Given the description of an element on the screen output the (x, y) to click on. 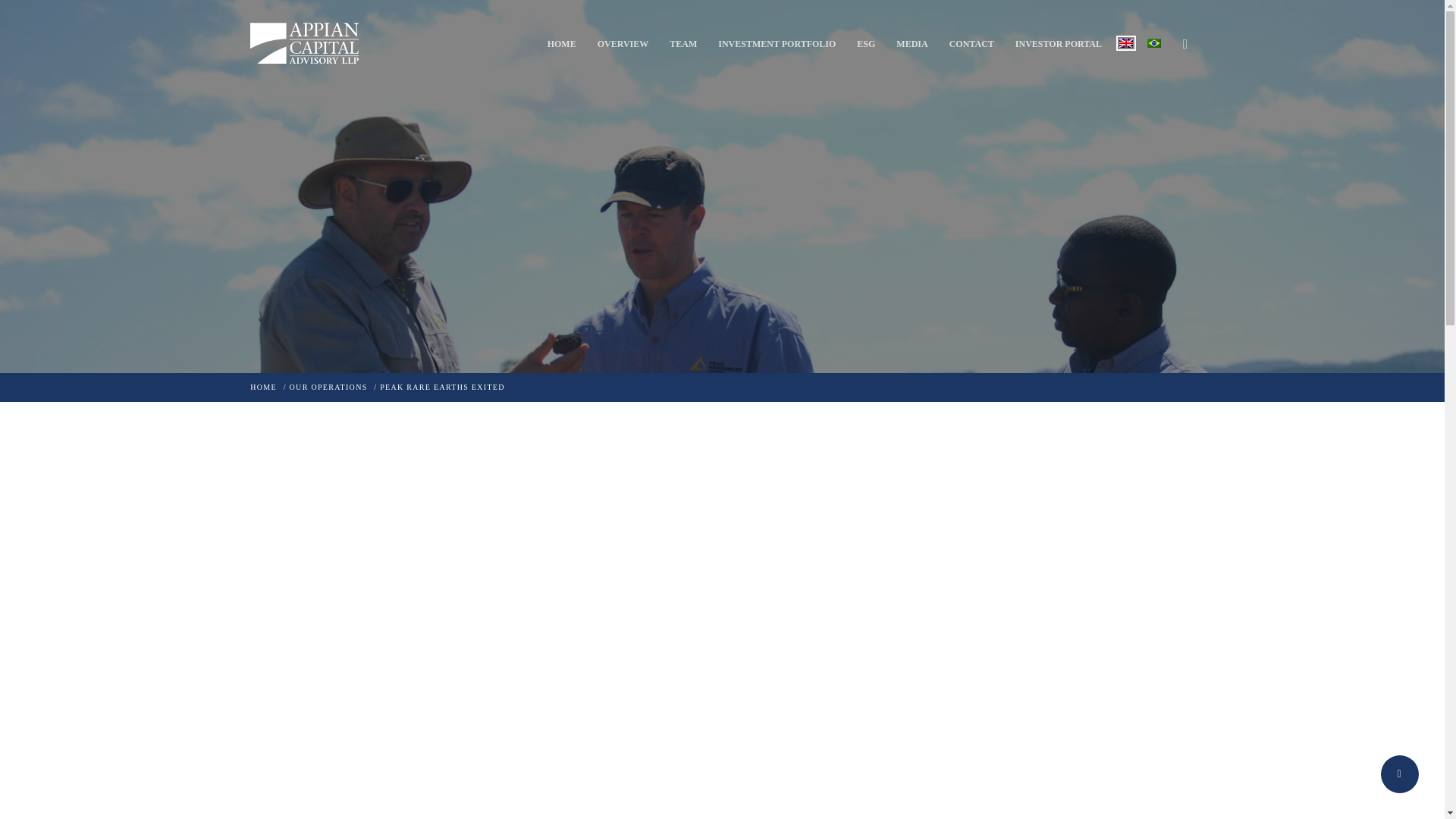
INVESTMENT PORTFOLIO (776, 43)
OVERVIEW (622, 43)
TEAM (683, 43)
HOME (561, 43)
ESG (866, 43)
